Given the description of an element on the screen output the (x, y) to click on. 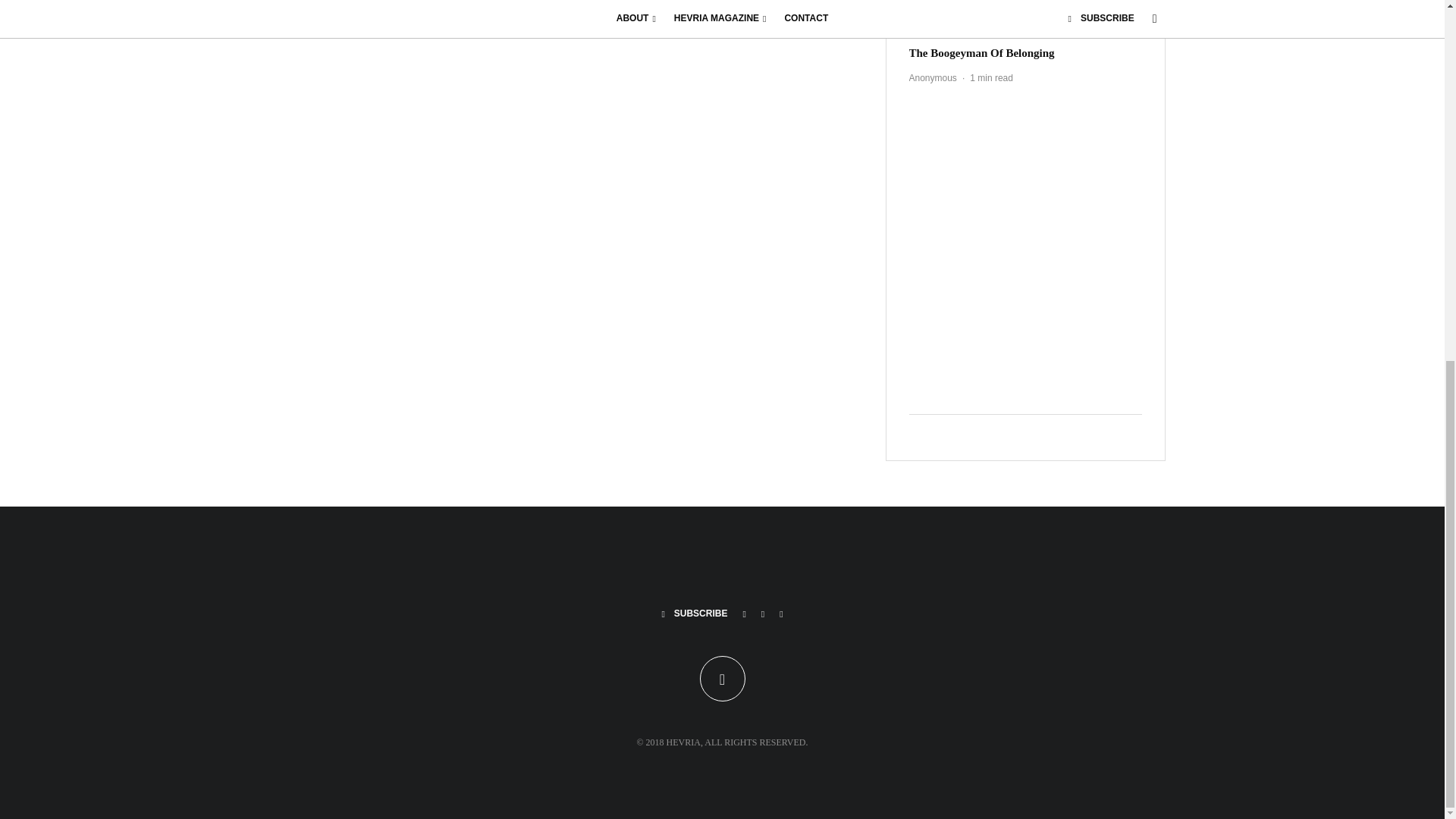
Anonymous (932, 77)
The Boogeyman Of Belonging (981, 52)
